Given the description of an element on the screen output the (x, y) to click on. 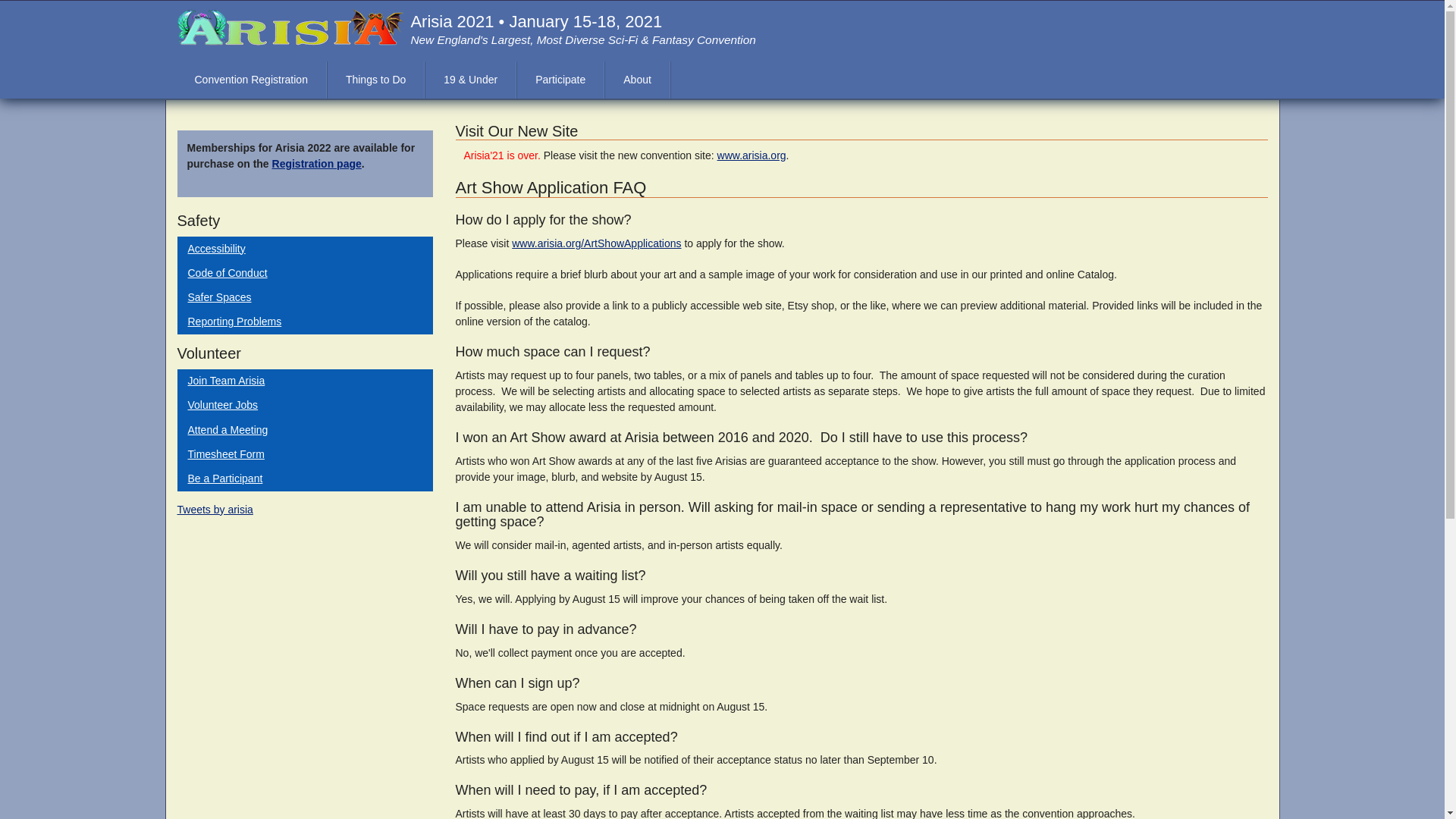
Home (536, 21)
Home (289, 25)
Things to Do (375, 79)
Convention Registration (250, 79)
